Given the description of an element on the screen output the (x, y) to click on. 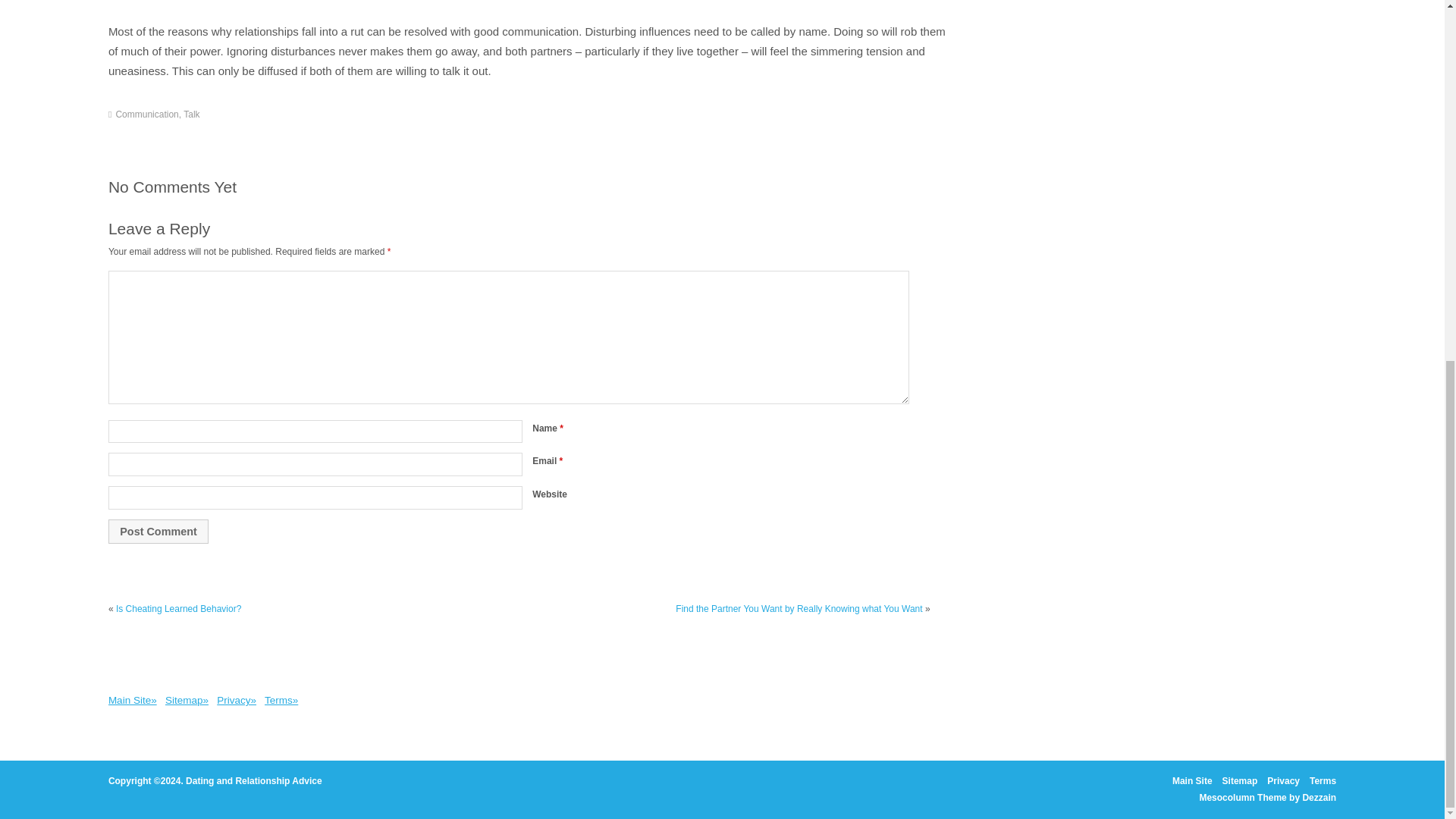
Talk (191, 113)
Find the Partner You Want by Really Knowing what You Want (798, 608)
Is Cheating Learned Behavior? (178, 608)
Post Comment (157, 531)
Communication (146, 113)
Post Comment (157, 531)
